Given the description of an element on the screen output the (x, y) to click on. 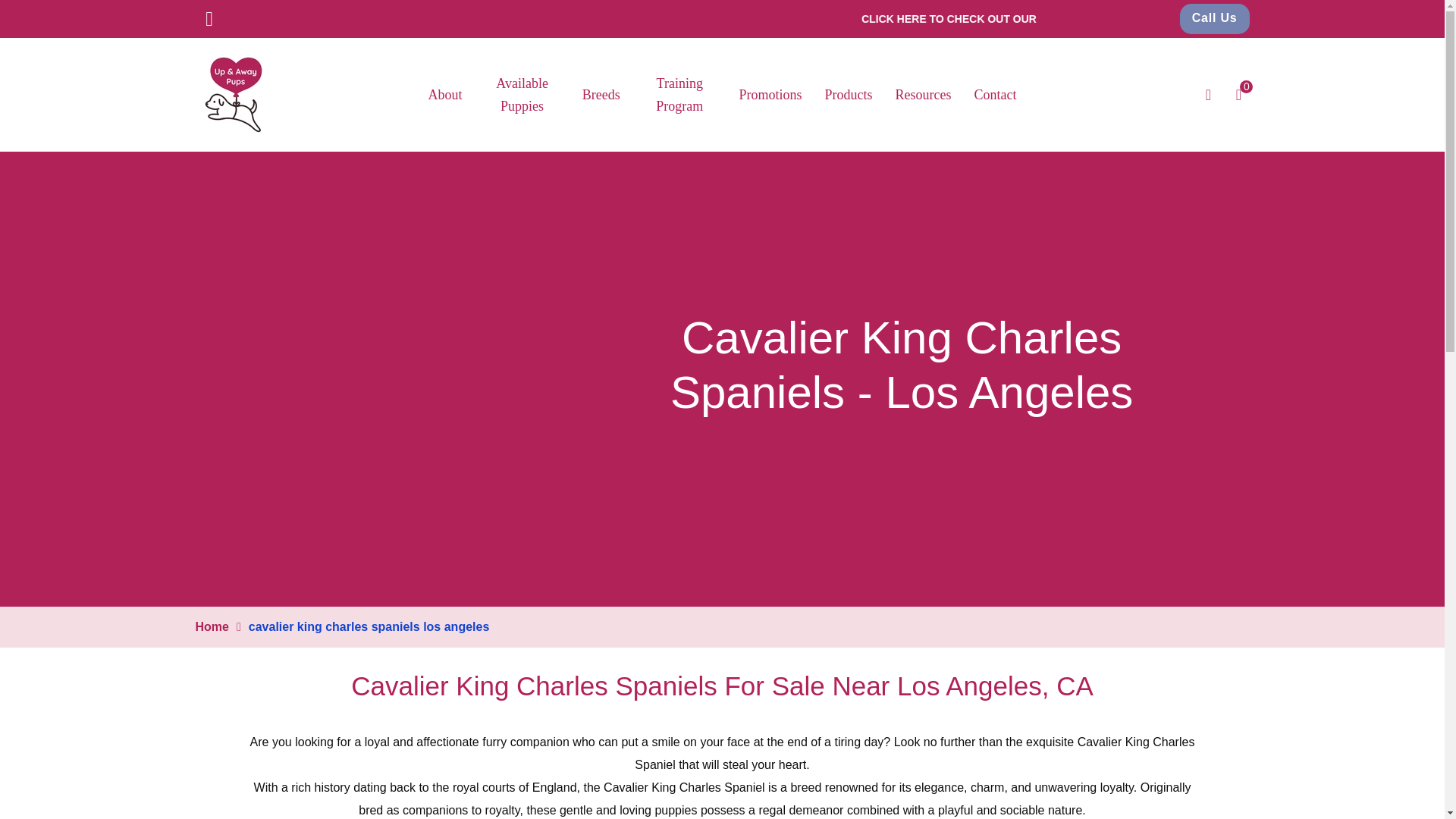
Up And Away Pups (232, 92)
My Bag (1238, 94)
Call Us (1214, 19)
Promotions (1154, 19)
About (444, 94)
Available Puppies (521, 94)
Breeds (601, 94)
